Given the description of an element on the screen output the (x, y) to click on. 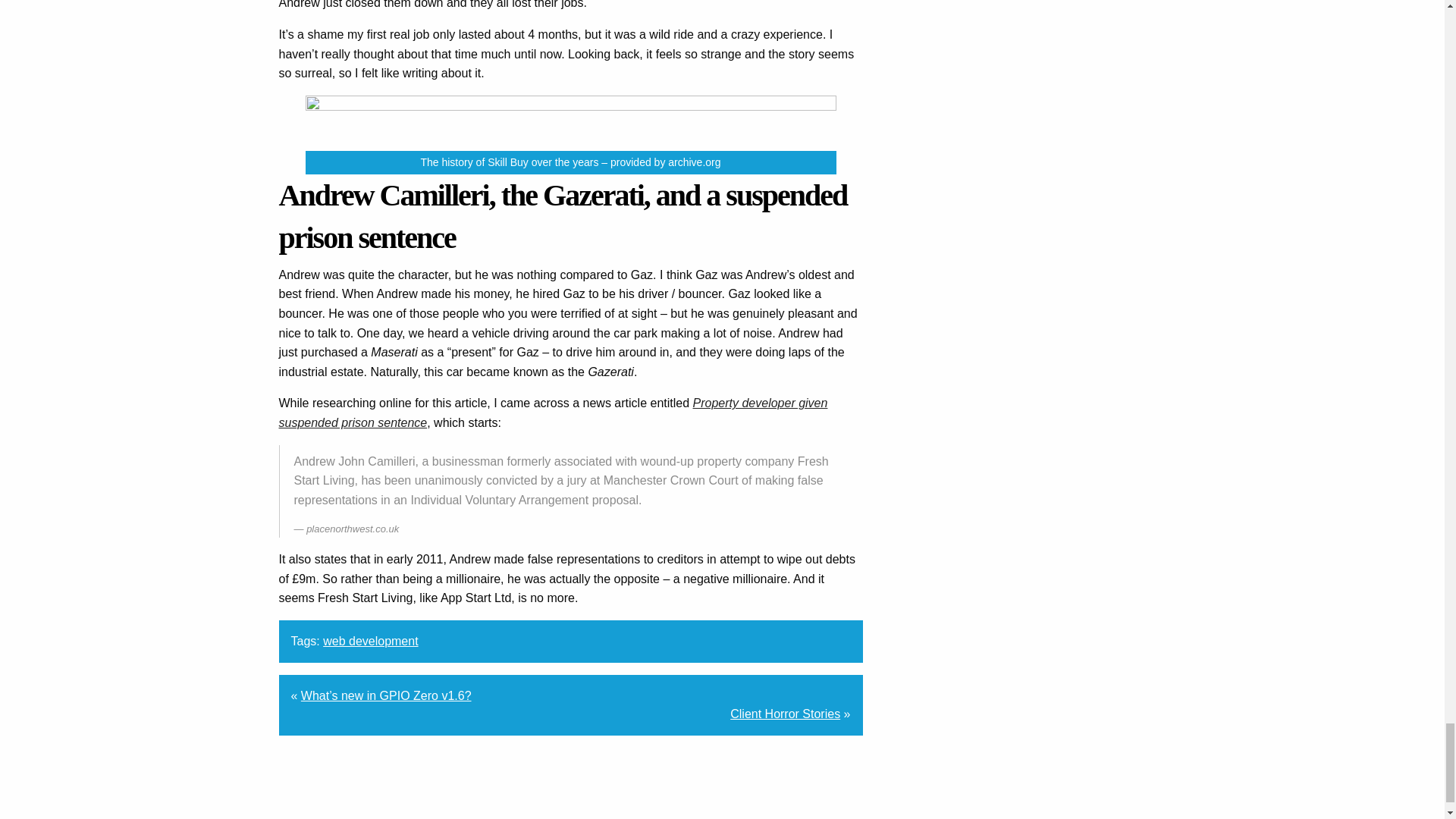
Client Horror Stories (785, 713)
Property developer given suspended prison sentence (553, 412)
web development (370, 640)
